Given the description of an element on the screen output the (x, y) to click on. 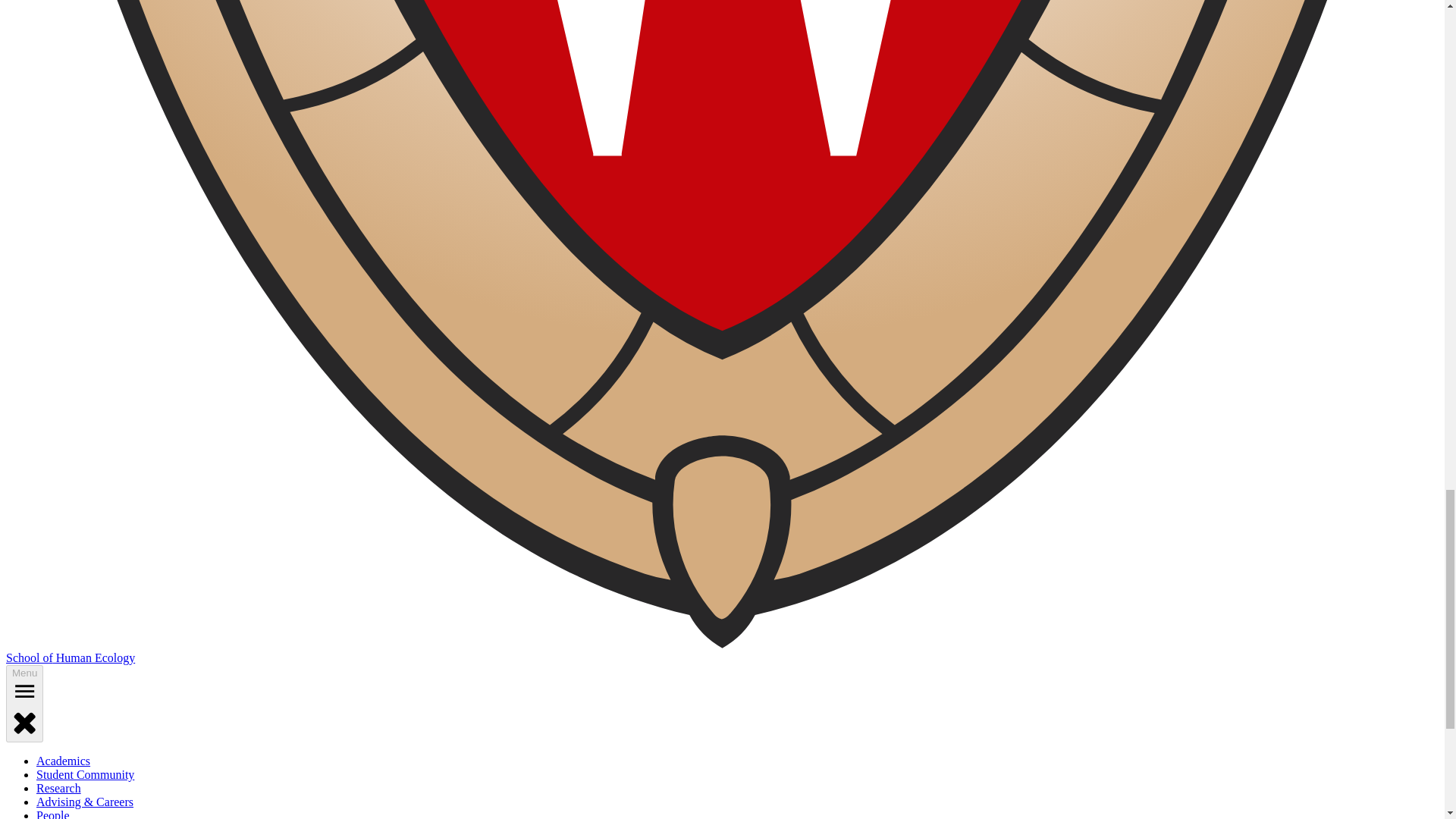
Academics (63, 760)
School of Human Ecology (70, 657)
Research (58, 788)
People (52, 814)
Student Community (84, 774)
open menu (24, 691)
